Given the description of an element on the screen output the (x, y) to click on. 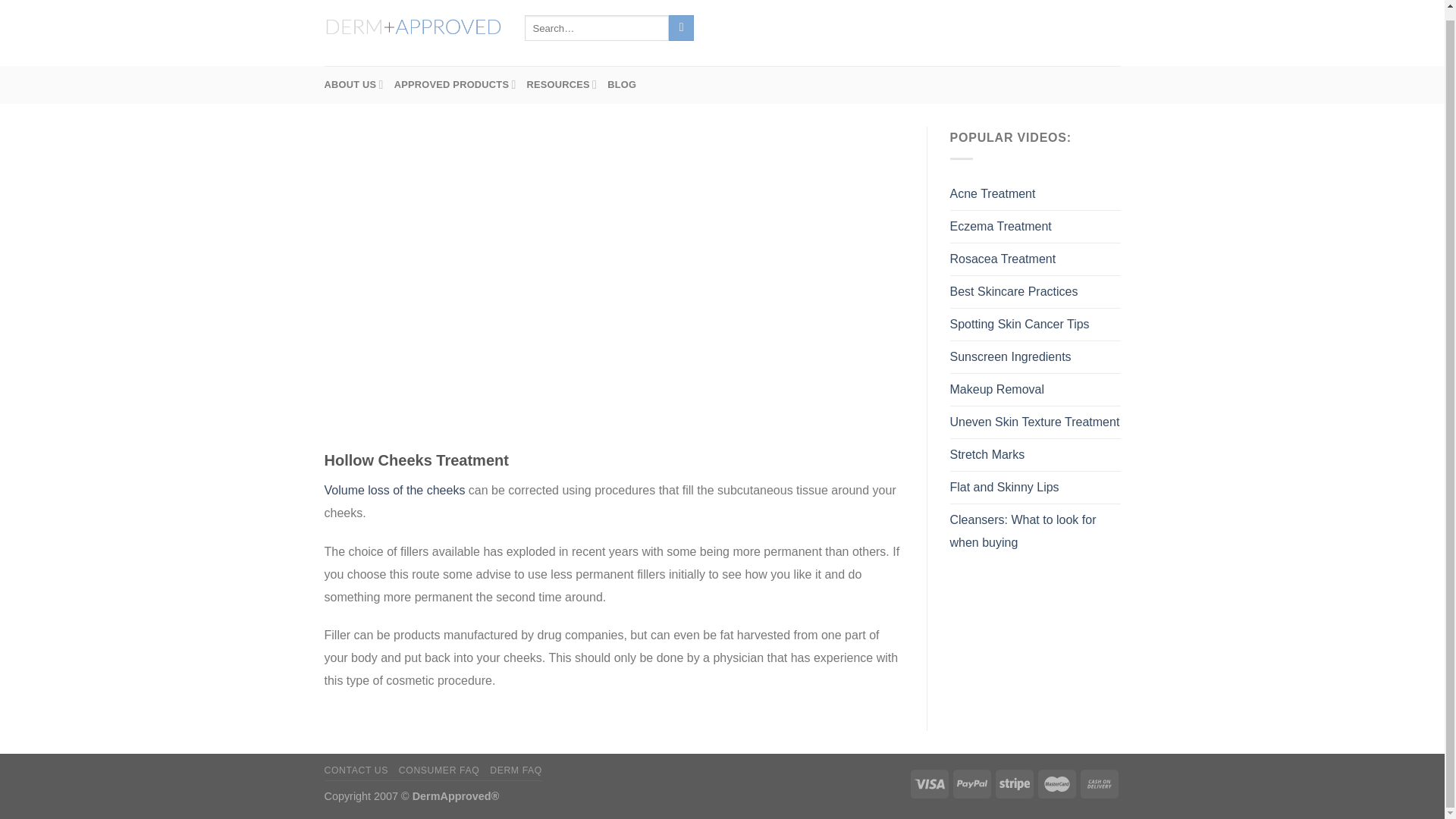
Search (681, 27)
ABOUT US (354, 85)
RESOURCES (561, 85)
Derm Approved - Skin Care Derm Approved (413, 28)
Eczema Treatment (1000, 226)
APPROVED PRODUCTS (455, 85)
Volume loss of the cheeks (394, 490)
Acne Treatment (992, 193)
